Given the description of an element on the screen output the (x, y) to click on. 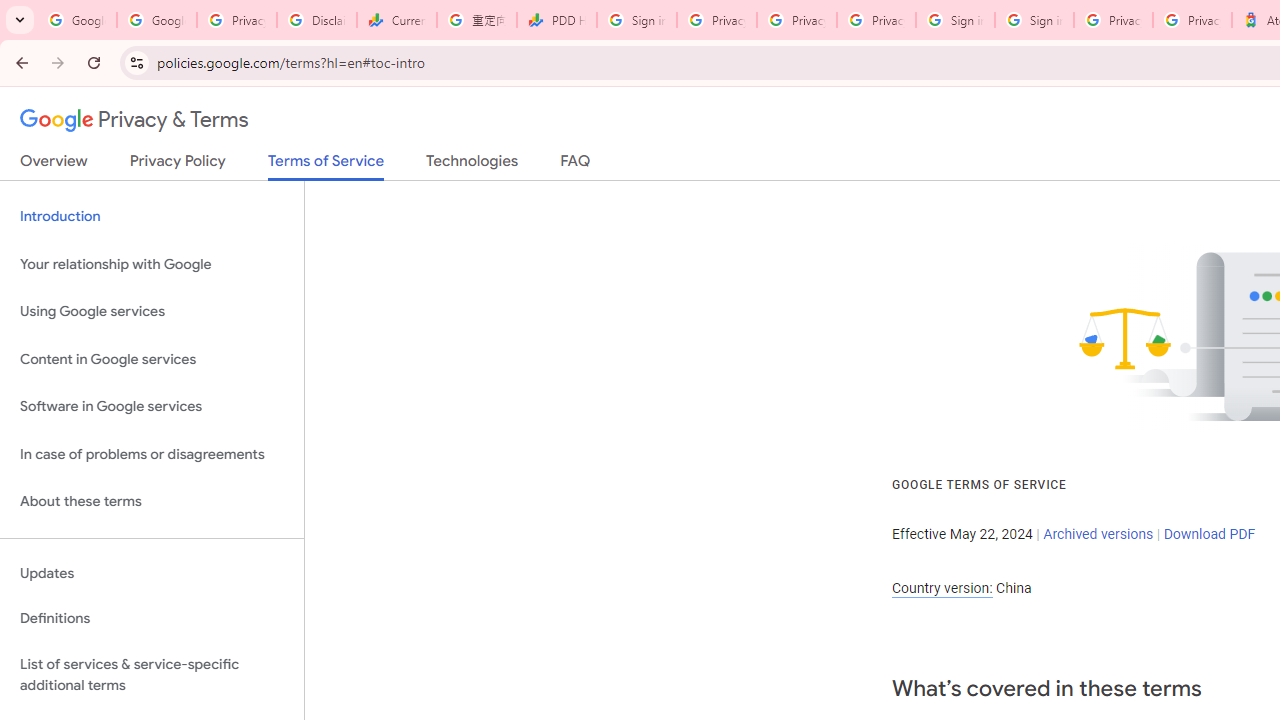
Privacy Checkup (796, 20)
About these terms (152, 502)
Sign in - Google Accounts (955, 20)
Using Google services (152, 312)
Archived versions (1098, 533)
PDD Holdings Inc - ADR (PDD) Price & News - Google Finance (556, 20)
